Given the description of an element on the screen output the (x, y) to click on. 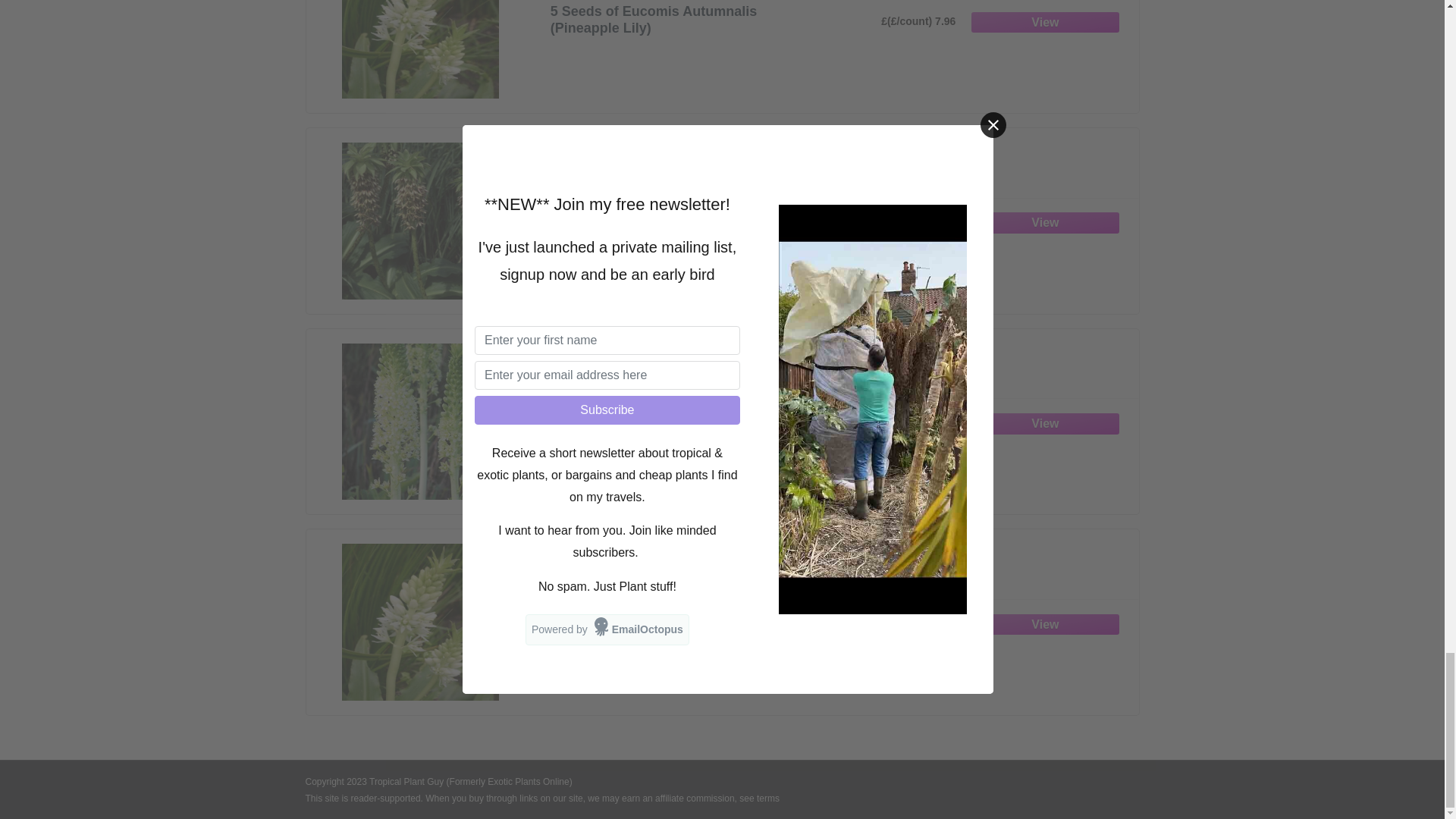
Tropical Plant Guy (406, 781)
